Given the description of an element on the screen output the (x, y) to click on. 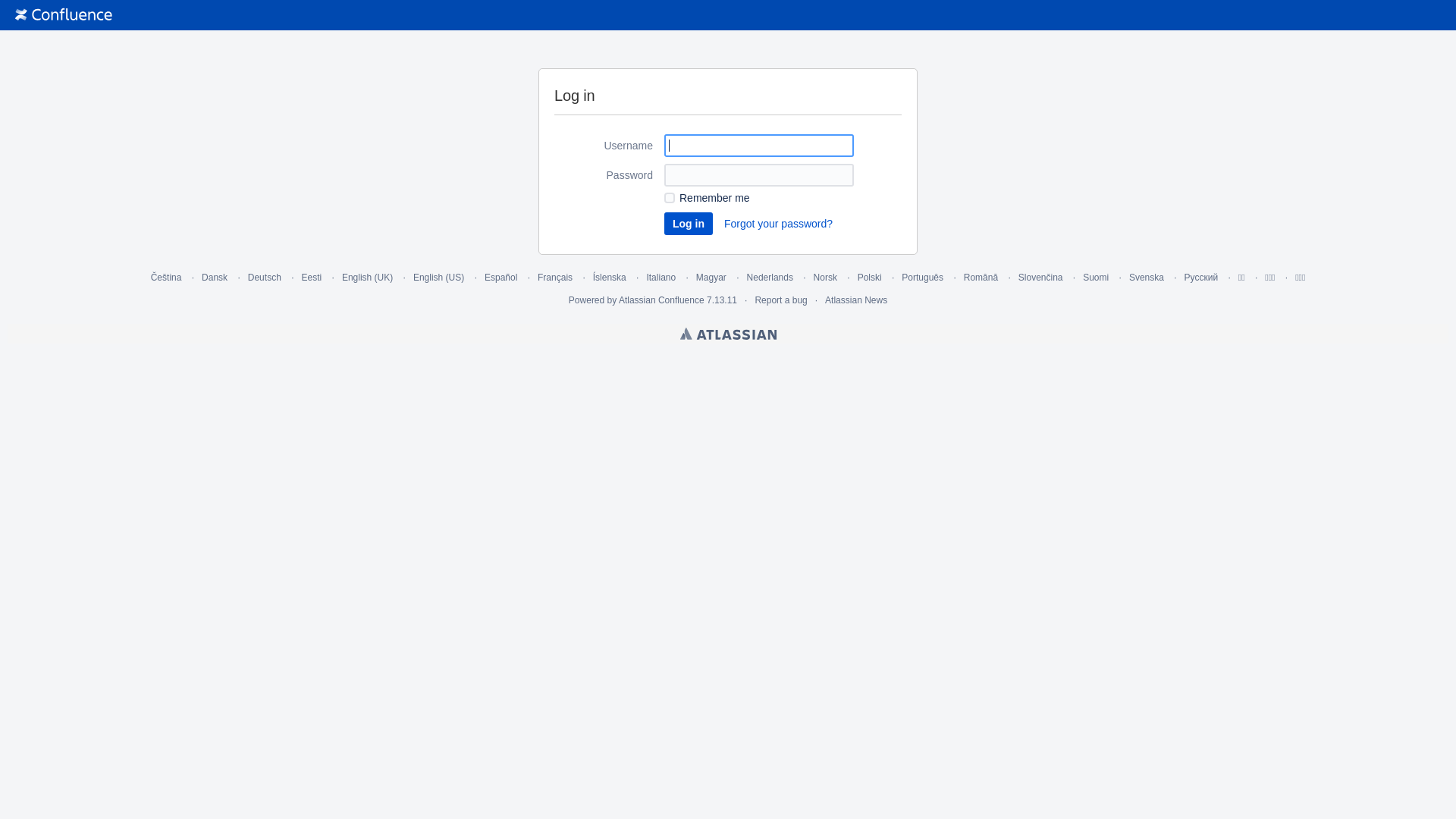
Confluence Element type: text (63, 15)
Suomi Element type: text (1095, 277)
Deutsch Element type: text (264, 277)
Log in Element type: text (688, 223)
Magyar Element type: text (711, 277)
Atlassian Confluence Element type: text (661, 299)
Forgot your password? Element type: text (778, 223)
Norsk Element type: text (825, 277)
Atlassian News Element type: text (856, 299)
Report a bug Element type: text (780, 299)
Italiano Element type: text (660, 277)
Atlassian Element type: text (727, 333)
English (UK) Element type: text (367, 277)
Dansk Element type: text (214, 277)
Nederlands Element type: text (769, 277)
Eesti Element type: text (311, 277)
Polski Element type: text (869, 277)
English (US) Element type: text (438, 277)
Svenska Element type: text (1146, 277)
